Given the description of an element on the screen output the (x, y) to click on. 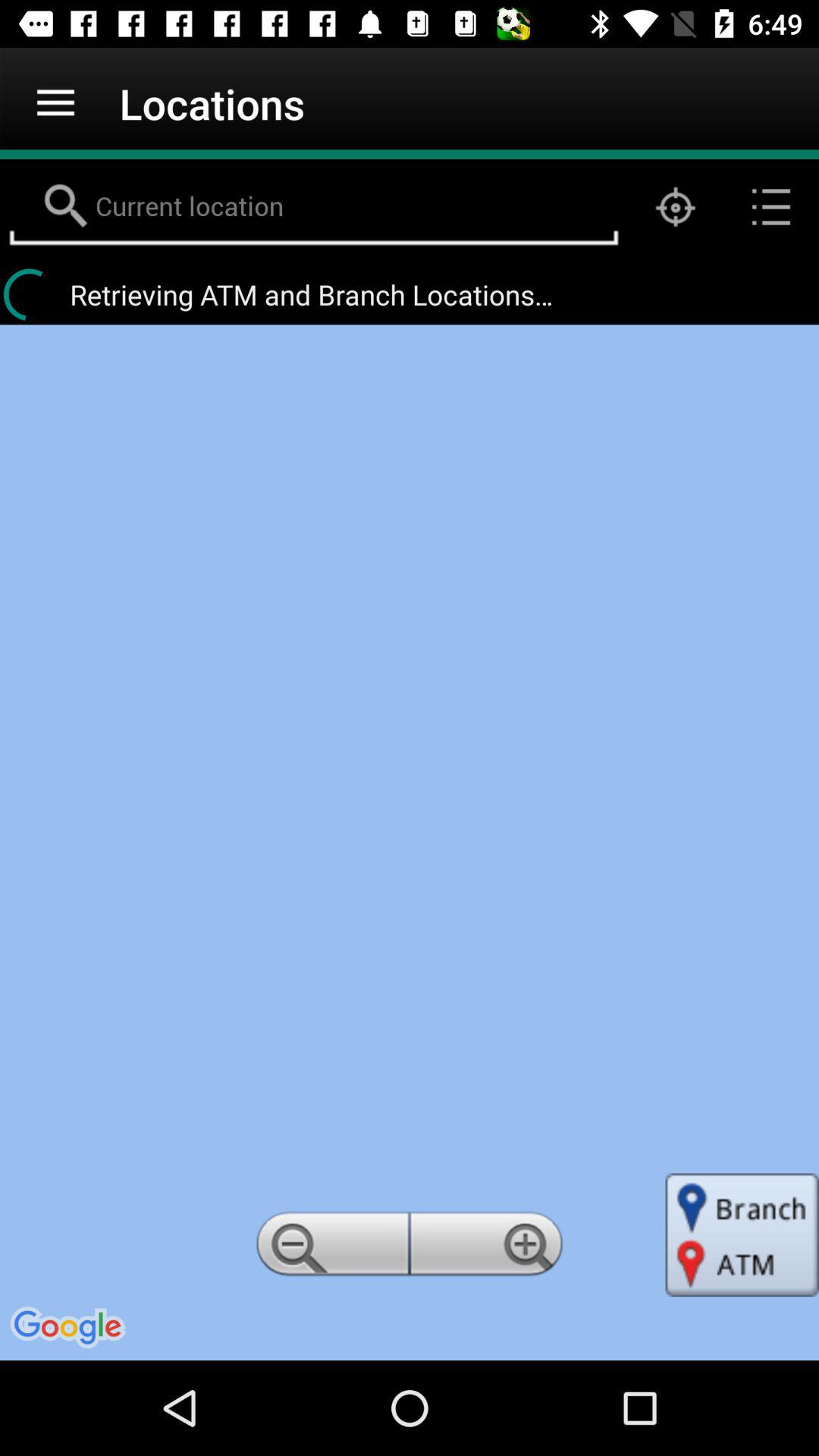
turn off the item above retrieving atm and (771, 206)
